Given the description of an element on the screen output the (x, y) to click on. 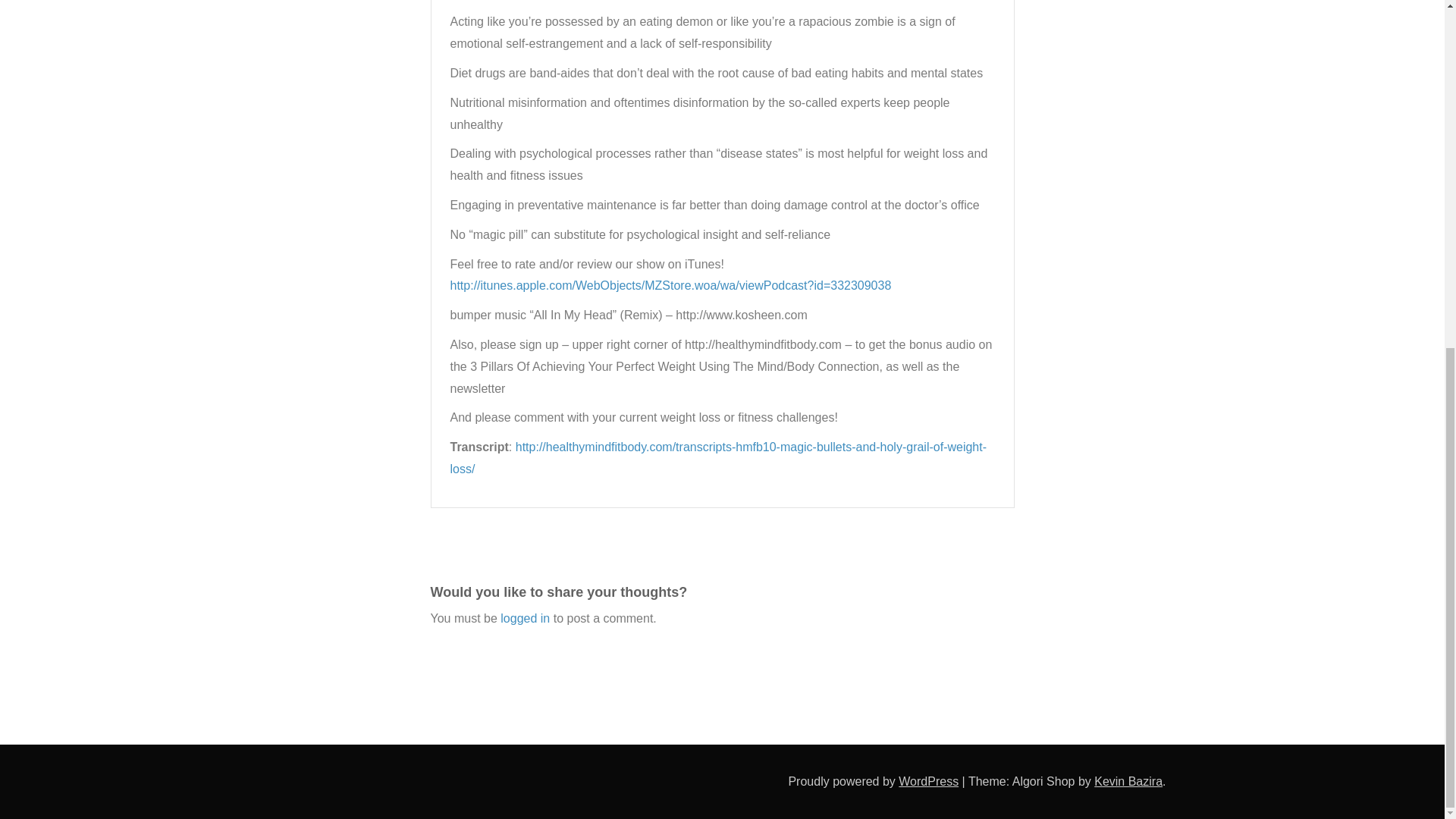
Kevin Bazira (1127, 780)
logged in (525, 617)
WordPress (928, 780)
